Given the description of an element on the screen output the (x, y) to click on. 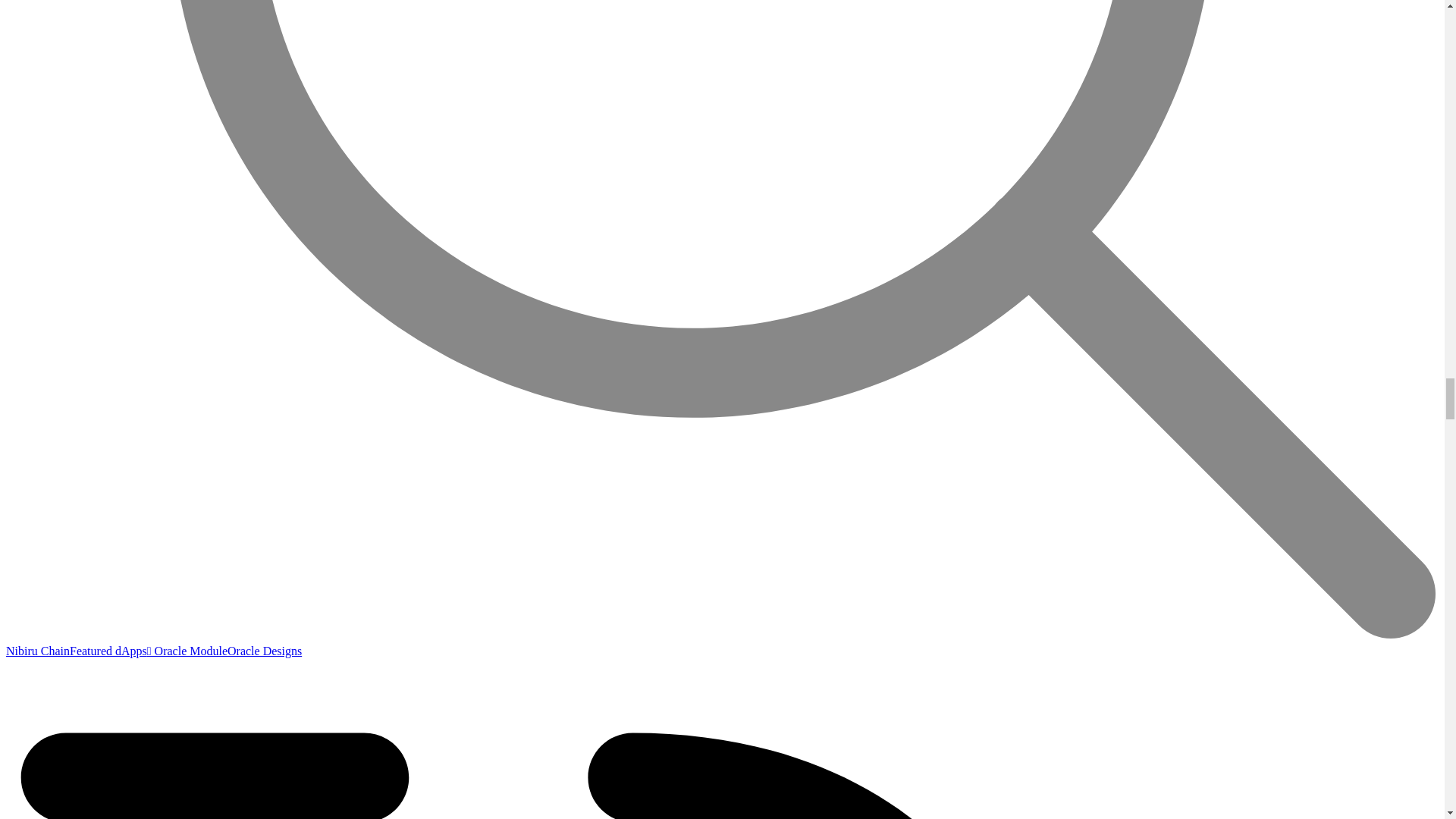
Oracle Designs (264, 650)
Featured dApps (108, 650)
Nibiru Chain (37, 650)
